Given the description of an element on the screen output the (x, y) to click on. 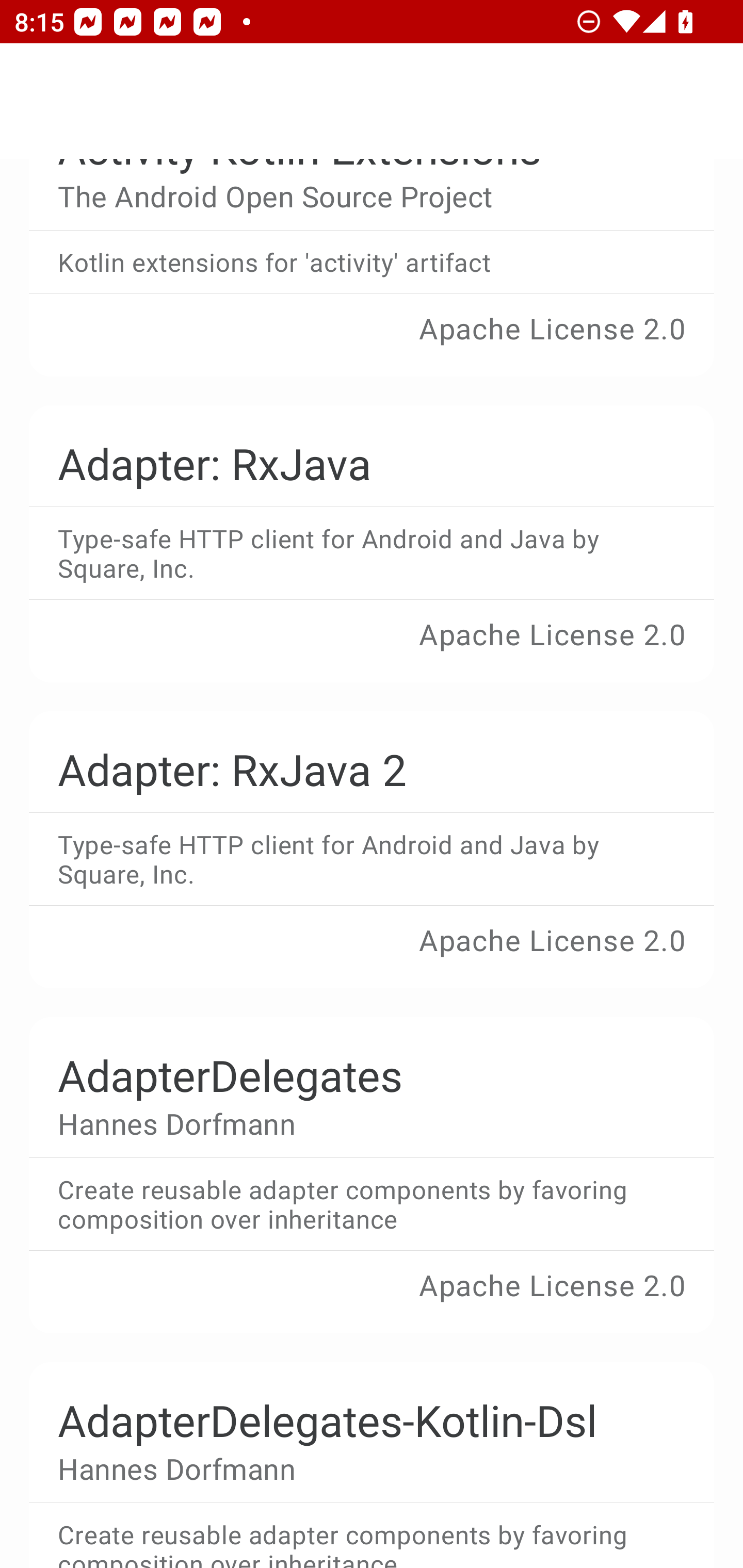
The Android Open Source Project (356, 195)
Apache License 2.0 (371, 342)
Apache License 2.0 (371, 648)
Apache License 2.0 (371, 953)
Hannes Dorfmann (356, 1123)
Apache License 2.0 (371, 1298)
Hannes Dorfmann (356, 1468)
